Given the description of an element on the screen output the (x, y) to click on. 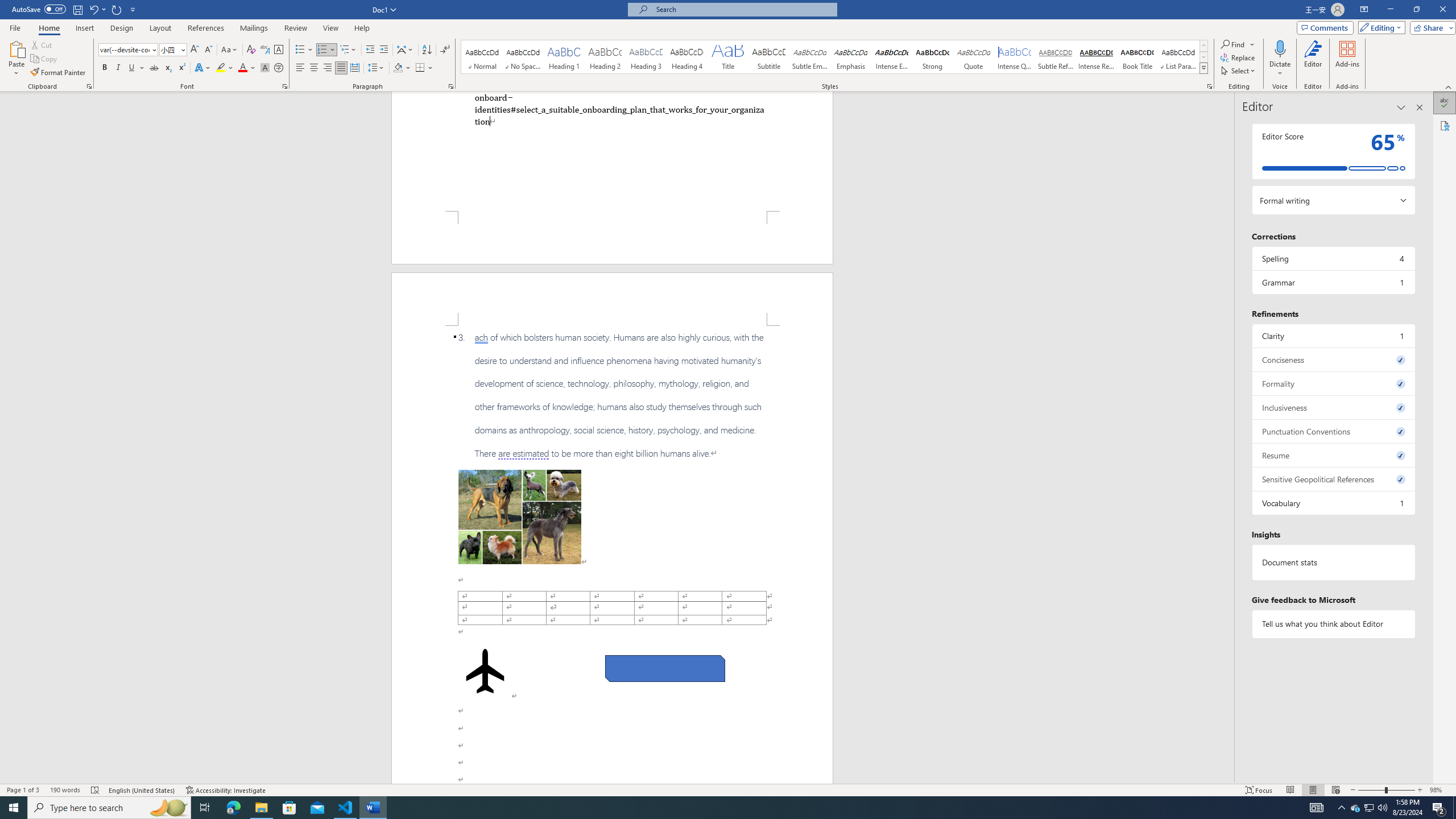
Rectangle: Diagonal Corners Snipped 2 (665, 668)
Subtle Reference (1055, 56)
Subtle Emphasis (809, 56)
